Given the description of an element on the screen output the (x, y) to click on. 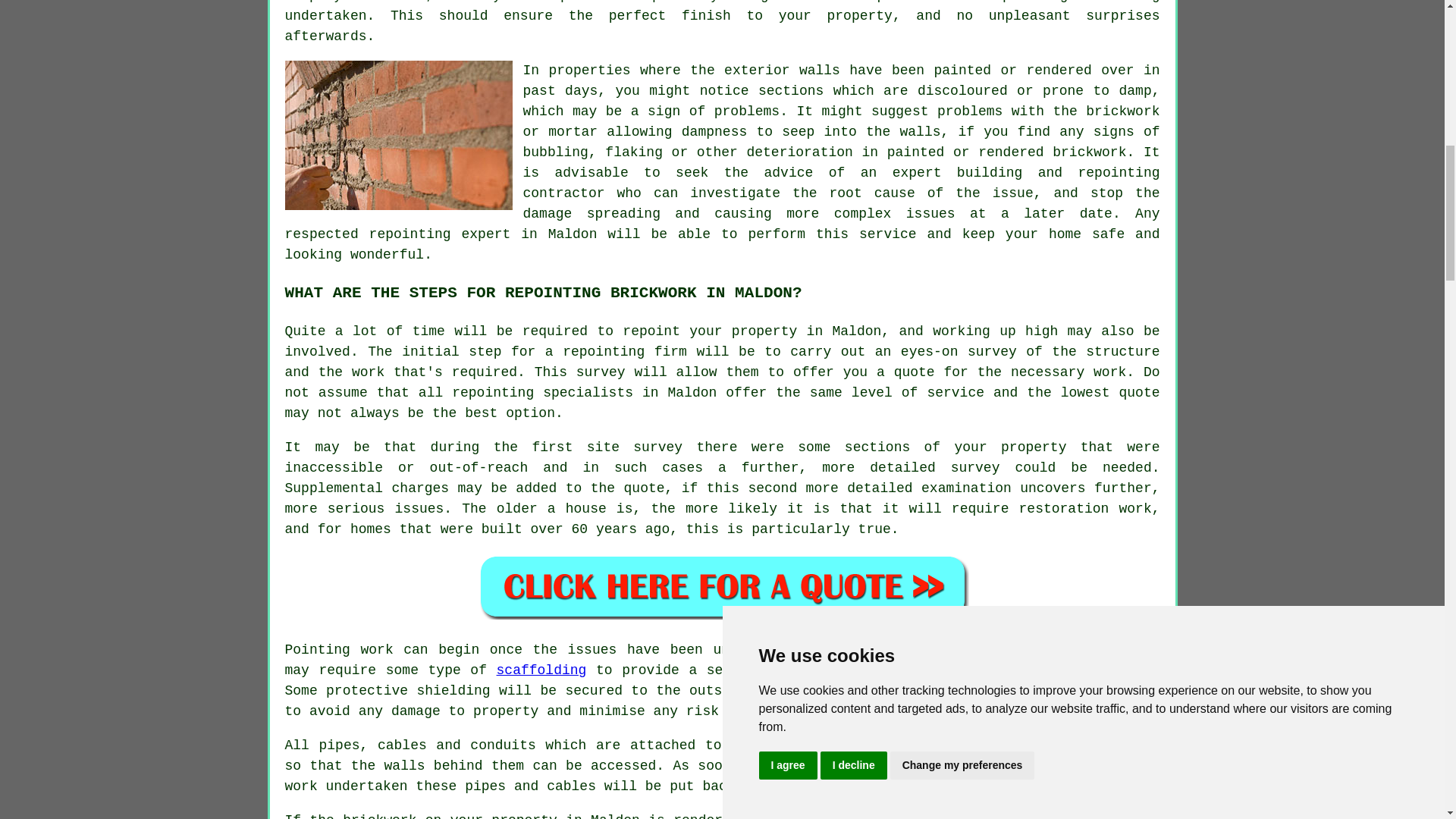
Quotes for Repointing Maldon (722, 586)
repoint (651, 331)
